Given the description of an element on the screen output the (x, y) to click on. 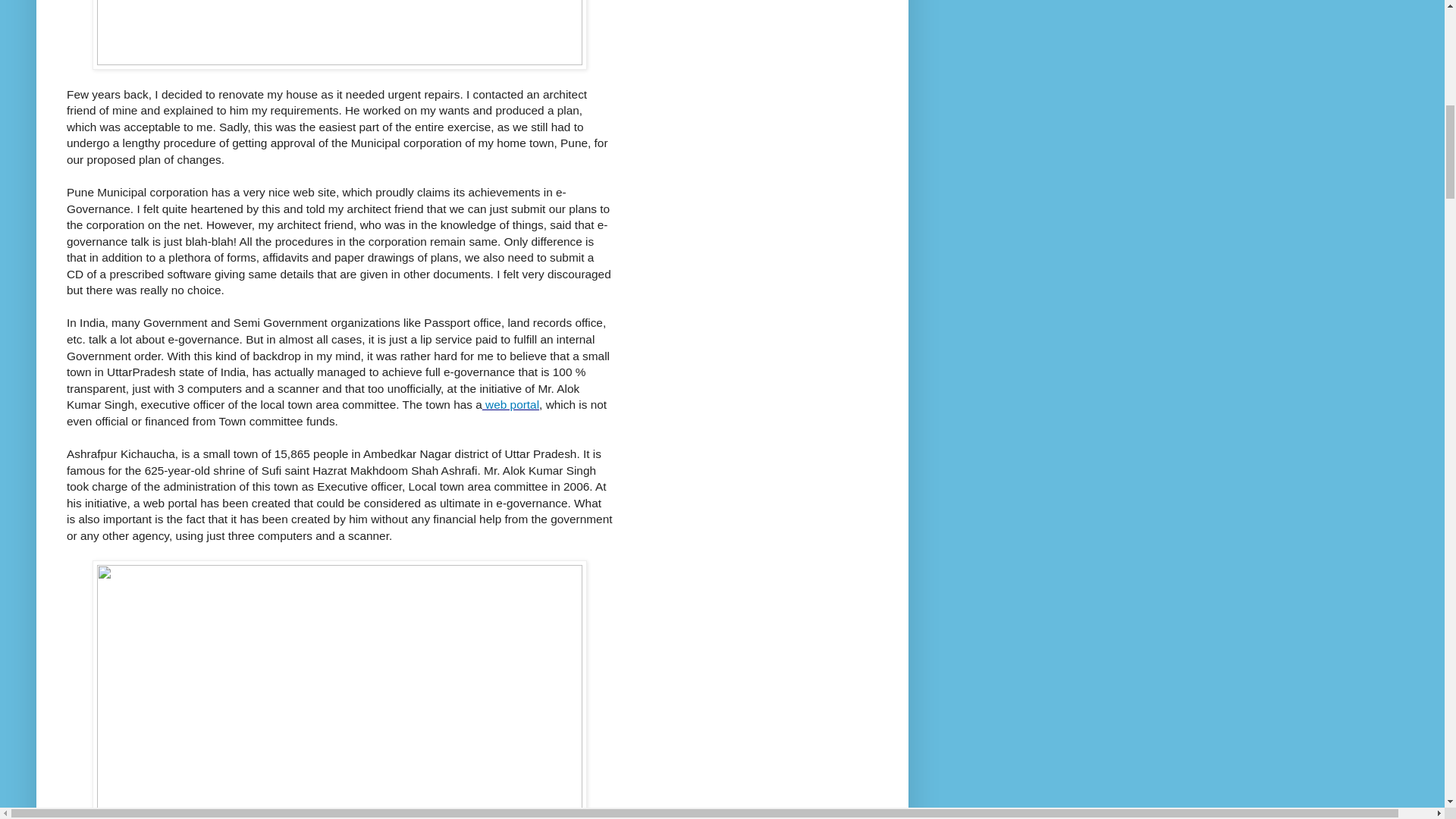
web portal (509, 404)
